Given the description of an element on the screen output the (x, y) to click on. 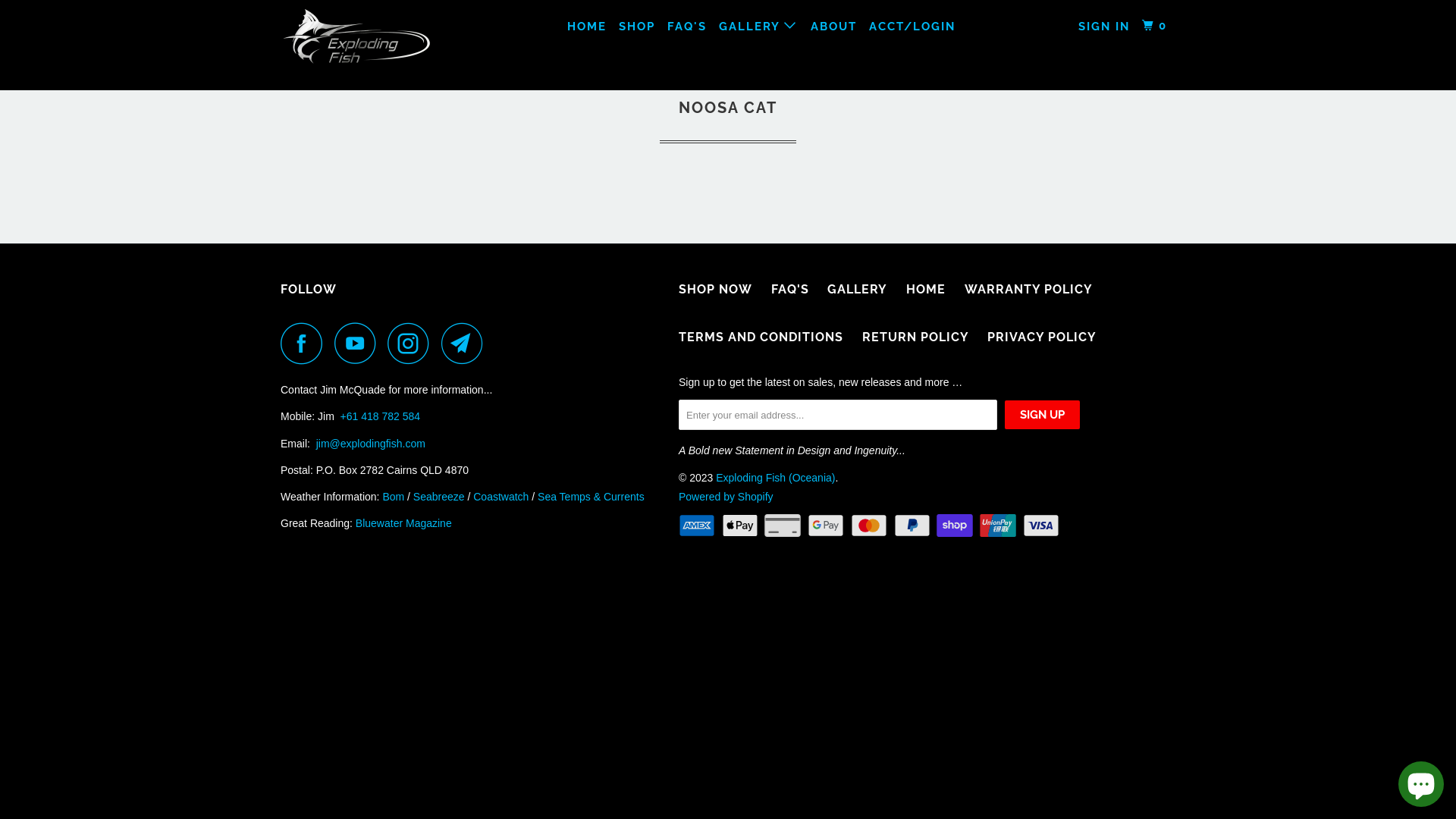
Exploding Fish (Oceania) Element type: text (774, 477)
Bluewater Magazine Element type: text (403, 523)
GALLERY Element type: text (857, 289)
FAQ'S Element type: text (790, 289)
Exploding Fish (Oceania) on Instagram Element type: hover (412, 343)
GALLERY Element type: text (758, 26)
Sign Up Element type: text (1041, 414)
0 Element type: text (1156, 26)
+61 418 782 584 Element type: text (380, 416)
Shopify online store chat Element type: hover (1420, 780)
Exploding Fish (Oceania) on Facebook Element type: hover (305, 343)
Seabreeze Element type: text (438, 496)
HOME Element type: text (586, 26)
SHOP Element type: text (636, 26)
SIGN IN Element type: text (1103, 26)
RETURN POLICY Element type: text (915, 337)
TERMS AND CONDITIONS Element type: text (760, 337)
PRIVACY POLICY Element type: text (1041, 337)
WARRANTY POLICY Element type: text (1028, 289)
ACCT/LOGIN Element type: text (912, 26)
Email Exploding Fish (Oceania) Element type: hover (466, 343)
NOOSA CAT Element type: text (727, 107)
Sea Temps & Currents Element type: text (590, 496)
Exploding Fish (Oceania) Element type: hover (358, 44)
HOME Element type: text (925, 289)
SHOP NOW Element type: text (715, 289)
Coastwatch Element type: text (500, 496)
jim@explodingfish.com Element type: text (370, 443)
FAQ'S Element type: text (686, 26)
Exploding Fish (Oceania) on YouTube Element type: hover (359, 343)
Powered by Shopify Element type: text (725, 496)
ABOUT Element type: text (833, 26)
Bom Element type: text (393, 496)
